Given the description of an element on the screen output the (x, y) to click on. 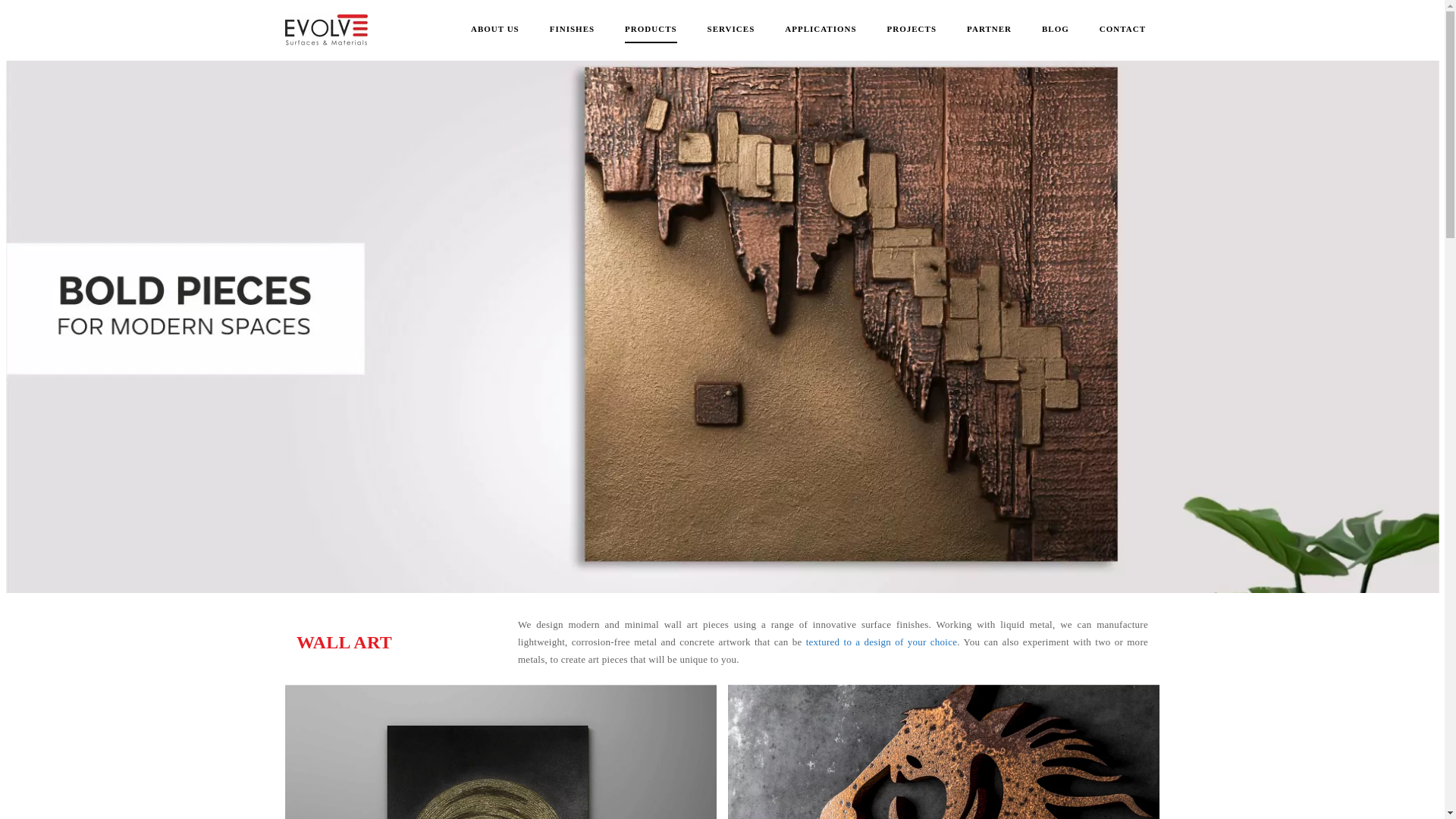
PARTNER (988, 29)
ABOUT US (494, 29)
PRODUCTS (650, 29)
FINISHES (572, 29)
SERVICES (731, 29)
BLOG (1055, 29)
Wall Art (500, 751)
textured to a design of your choice (882, 641)
PROJECTS (911, 29)
Wall Art (943, 751)
APPLICATIONS (820, 29)
CONTACT (1122, 29)
